Given the description of an element on the screen output the (x, y) to click on. 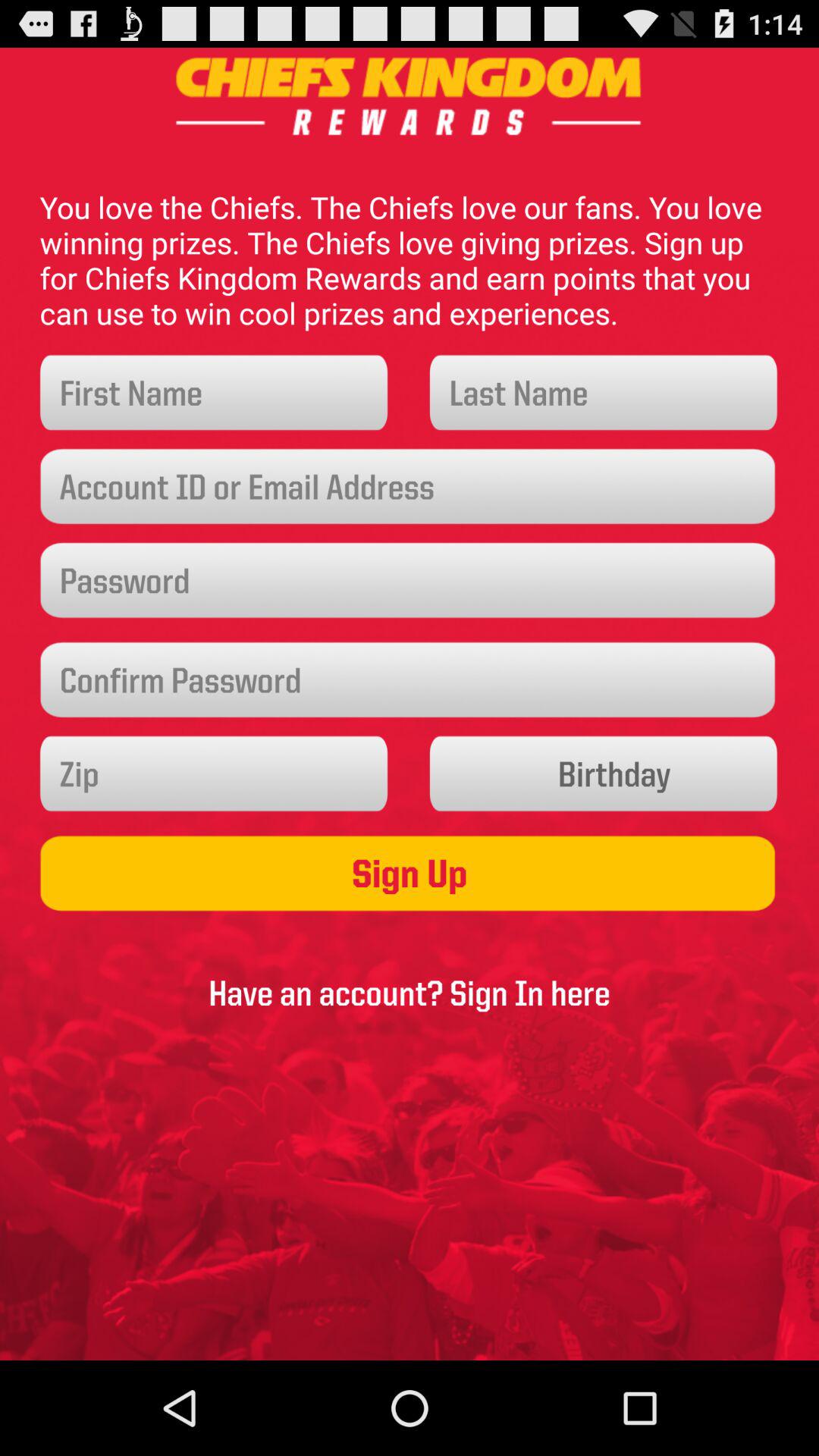
share the article (214, 773)
